Given the description of an element on the screen output the (x, y) to click on. 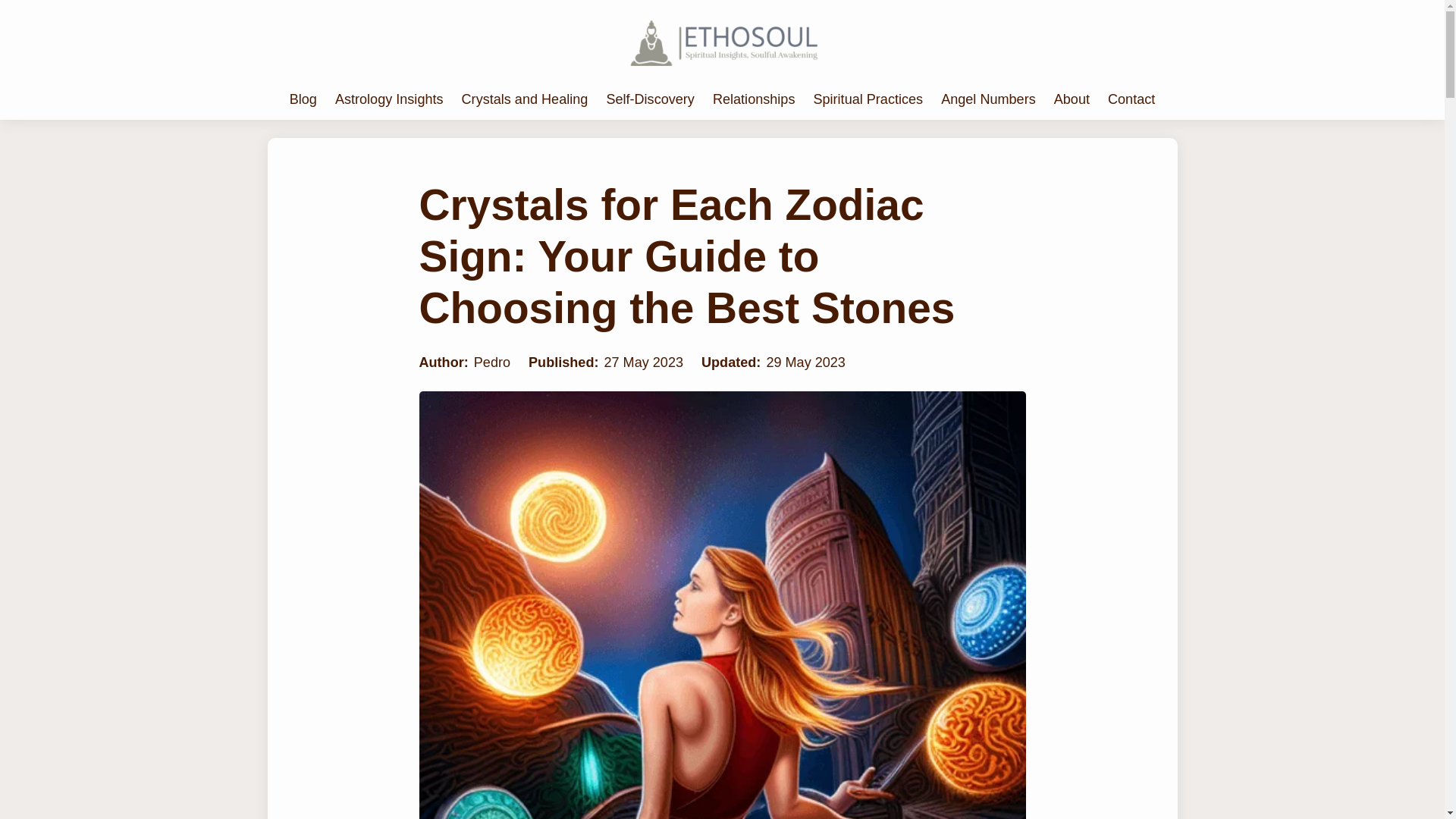
Relationships (753, 99)
Contact (1131, 99)
Self-Discovery (649, 99)
Crystals and Healing (524, 99)
Spiritual Practices (867, 99)
Astrology Insights (389, 99)
Blog (303, 99)
Angel Numbers (987, 99)
About (1071, 99)
